Given the description of an element on the screen output the (x, y) to click on. 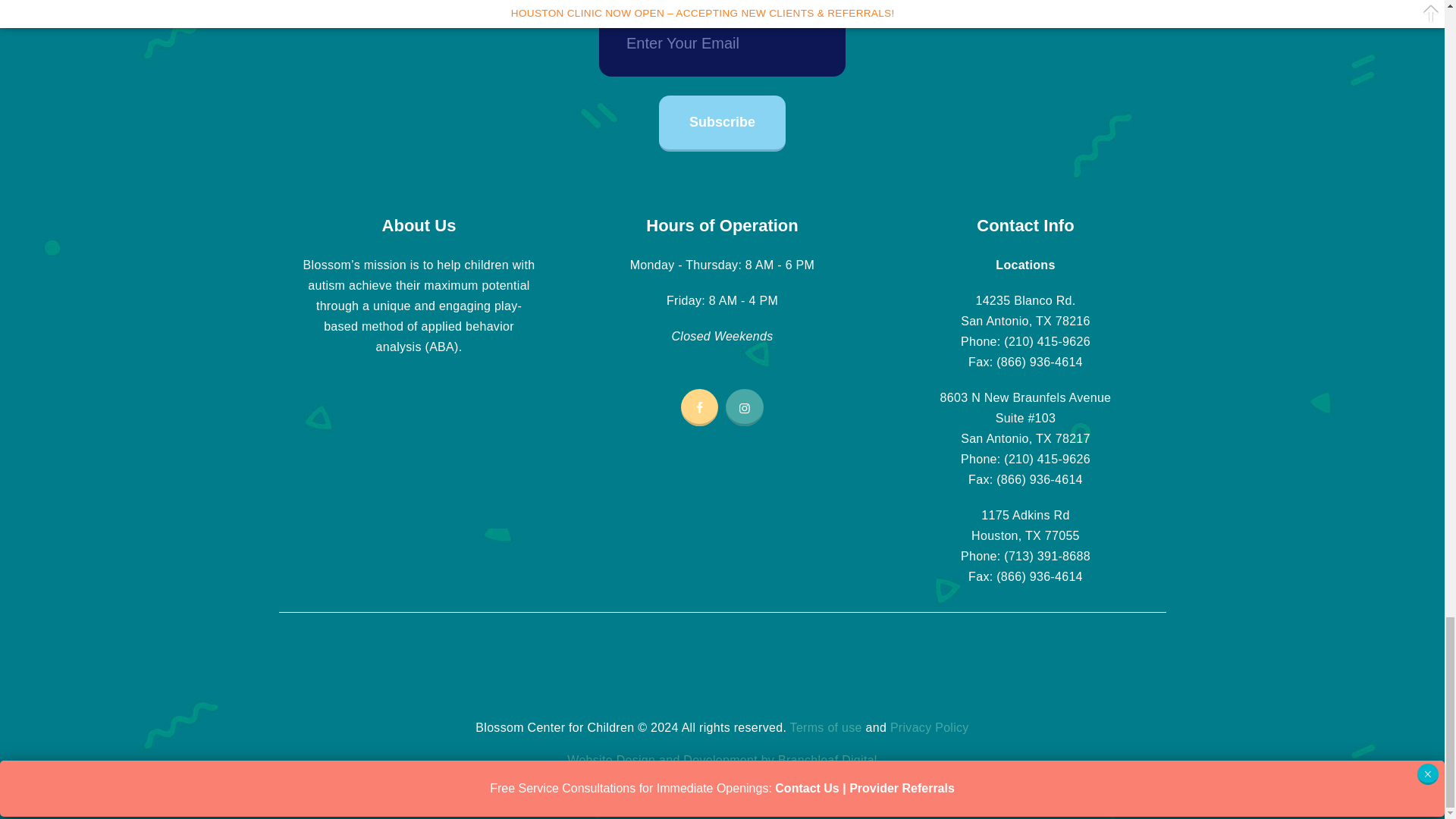
Subscribe (721, 123)
